Given the description of an element on the screen output the (x, y) to click on. 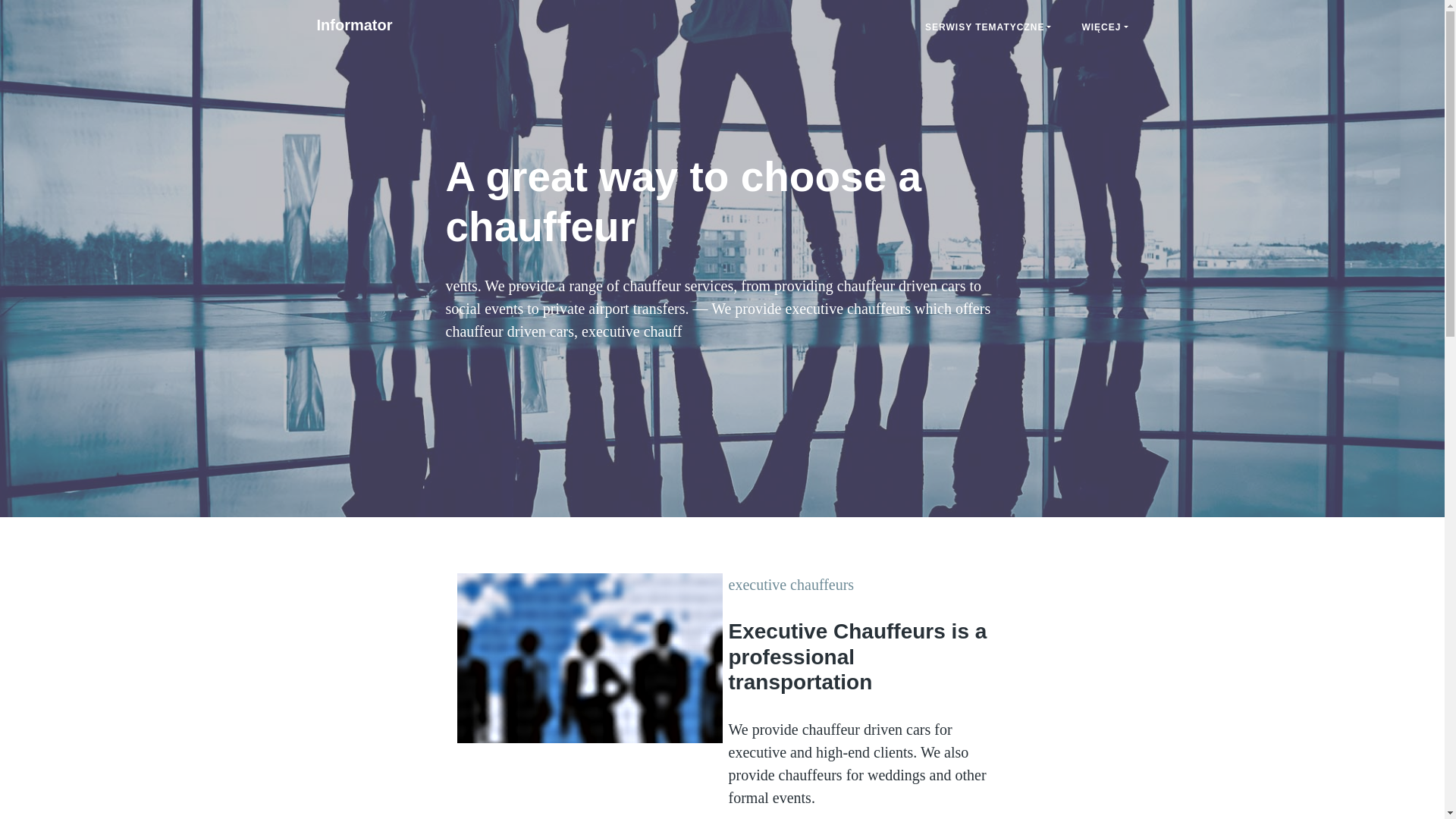
Informator (354, 24)
 A great way to choose a chauffeur  (354, 24)
SERWISY TEMATYCZNE (987, 27)
